Given the description of an element on the screen output the (x, y) to click on. 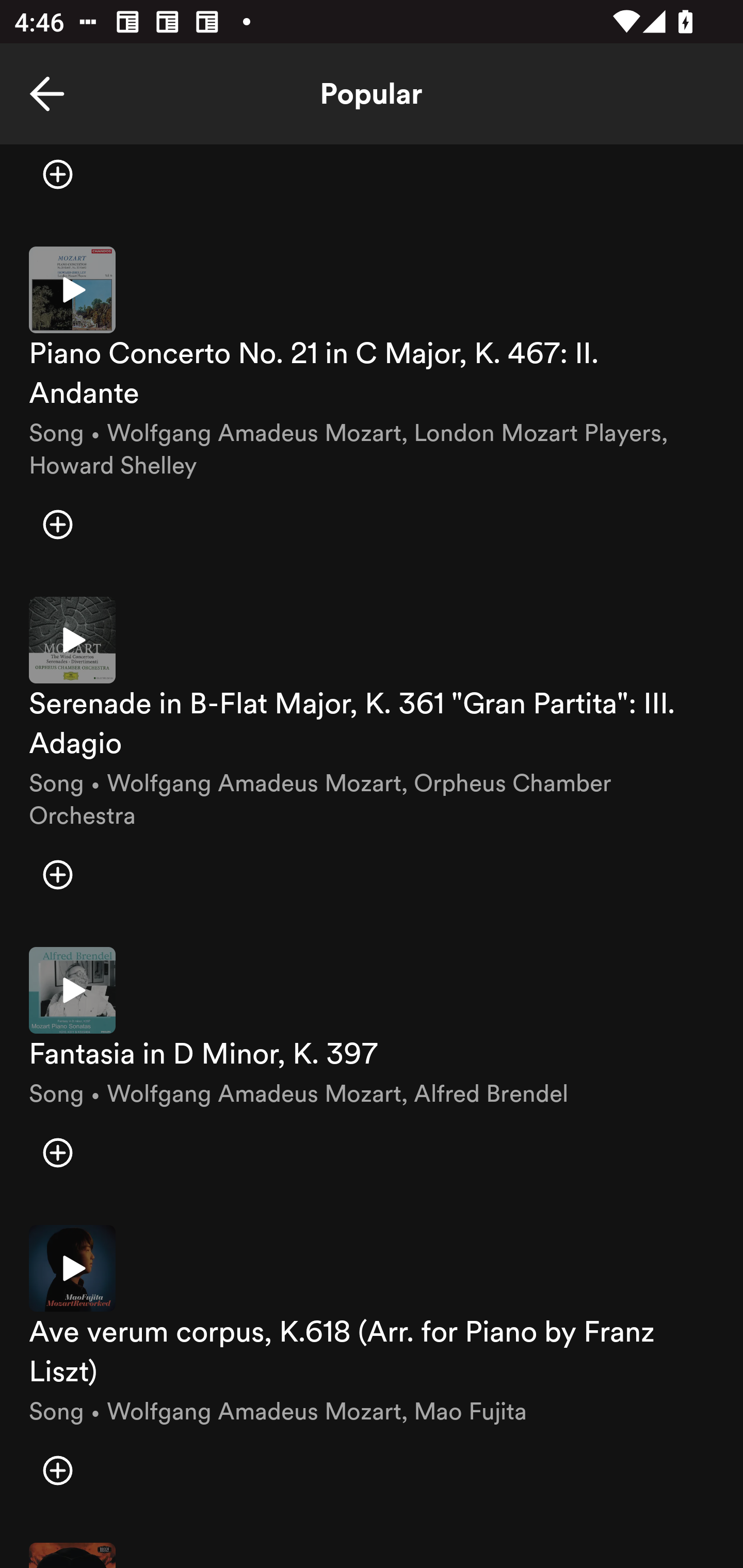
Back (46, 93)
Add item (57, 180)
Play preview (71, 289)
Add item (57, 524)
Play preview (71, 640)
Add item (57, 874)
Play preview (71, 990)
Add item (57, 1153)
Play preview (71, 1268)
Add item (57, 1469)
